Given the description of an element on the screen output the (x, y) to click on. 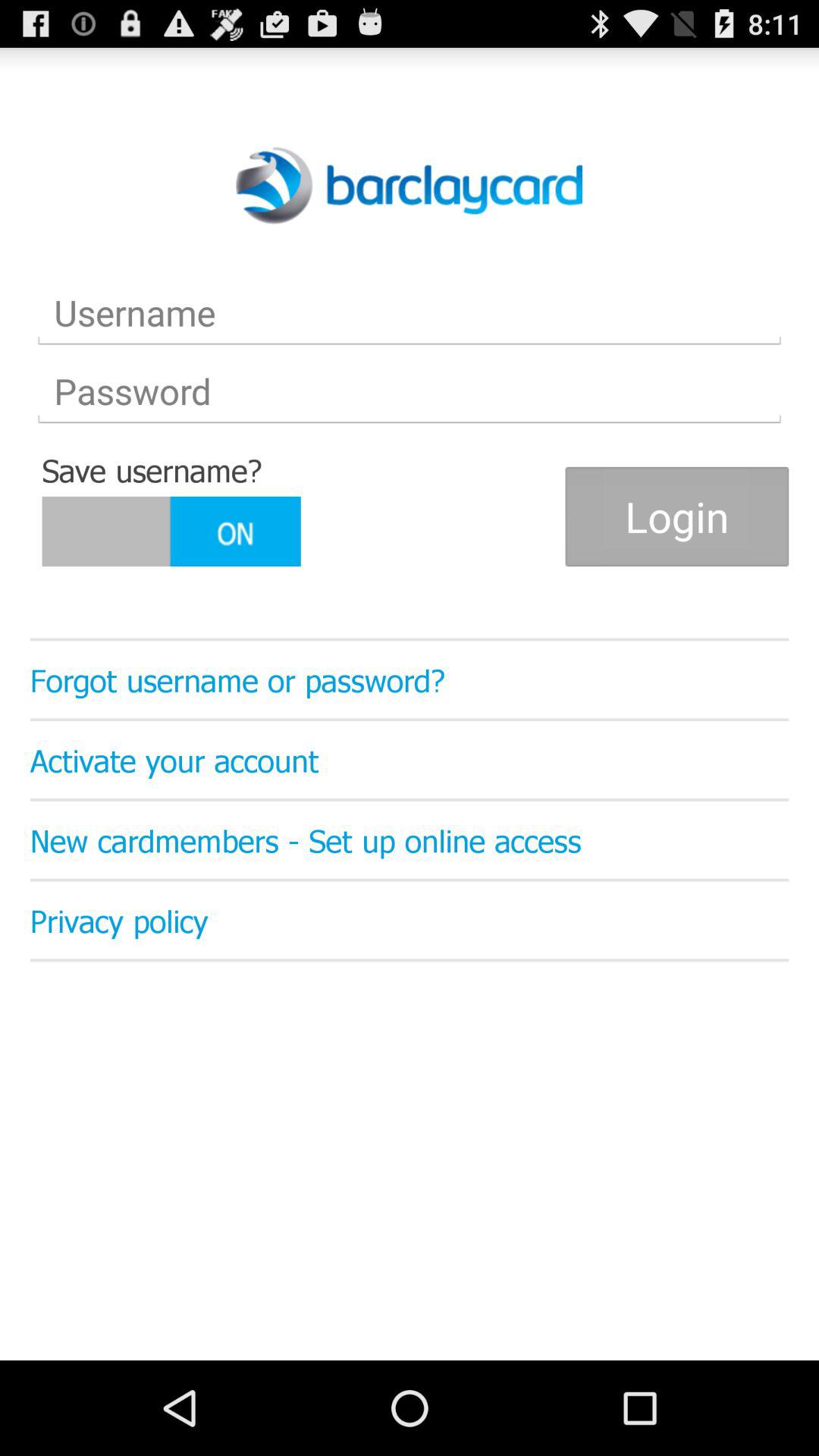
flip until login (676, 516)
